Given the description of an element on the screen output the (x, y) to click on. 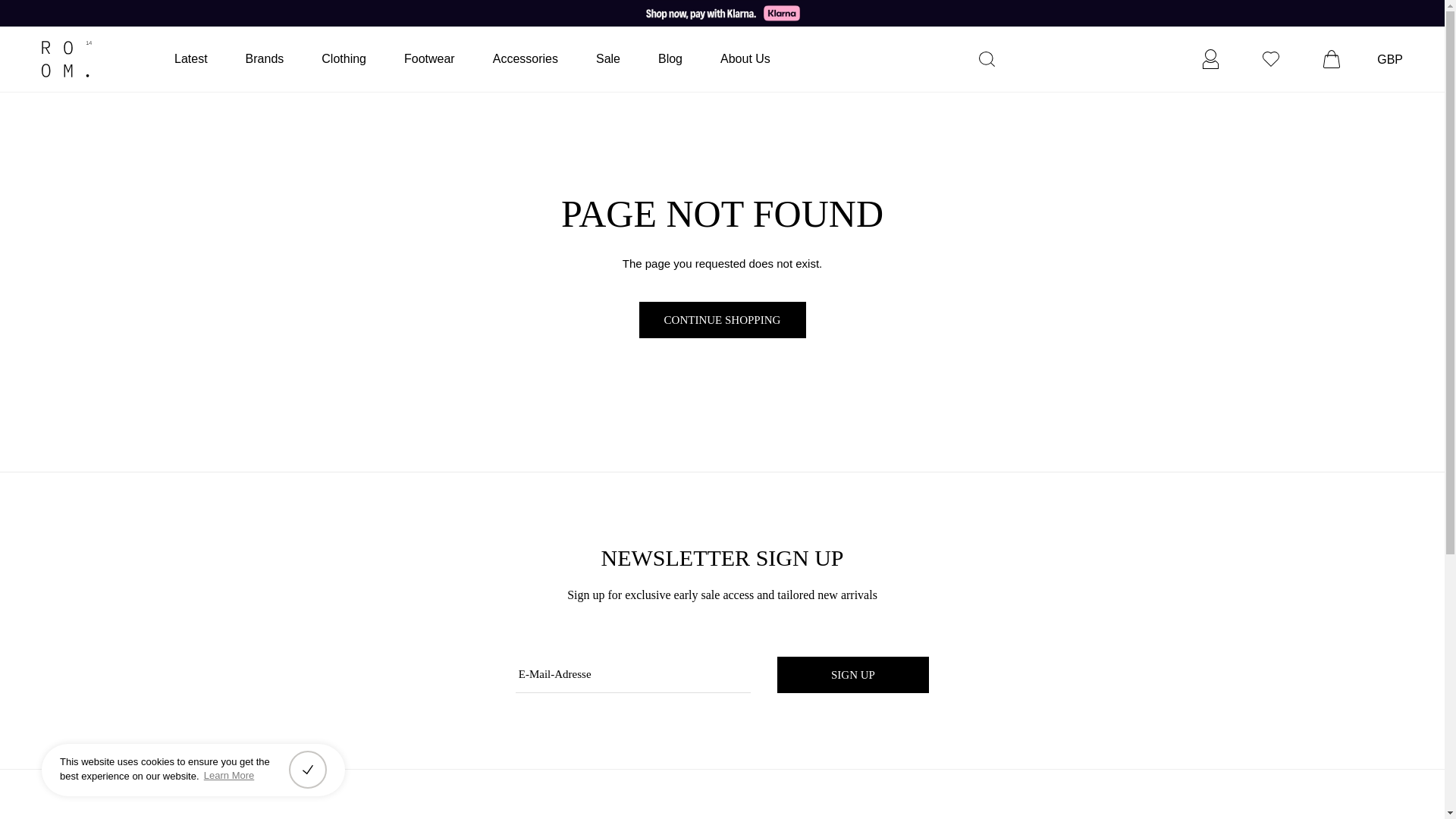
Clothing (343, 58)
Einkaufswagen (1331, 58)
Brands (264, 58)
Settings (1210, 58)
Wishlist (1270, 58)
Learn More (229, 775)
ROOM 14 MENSWEAR (98, 58)
Search (991, 58)
Latest (191, 58)
